Given the description of an element on the screen output the (x, y) to click on. 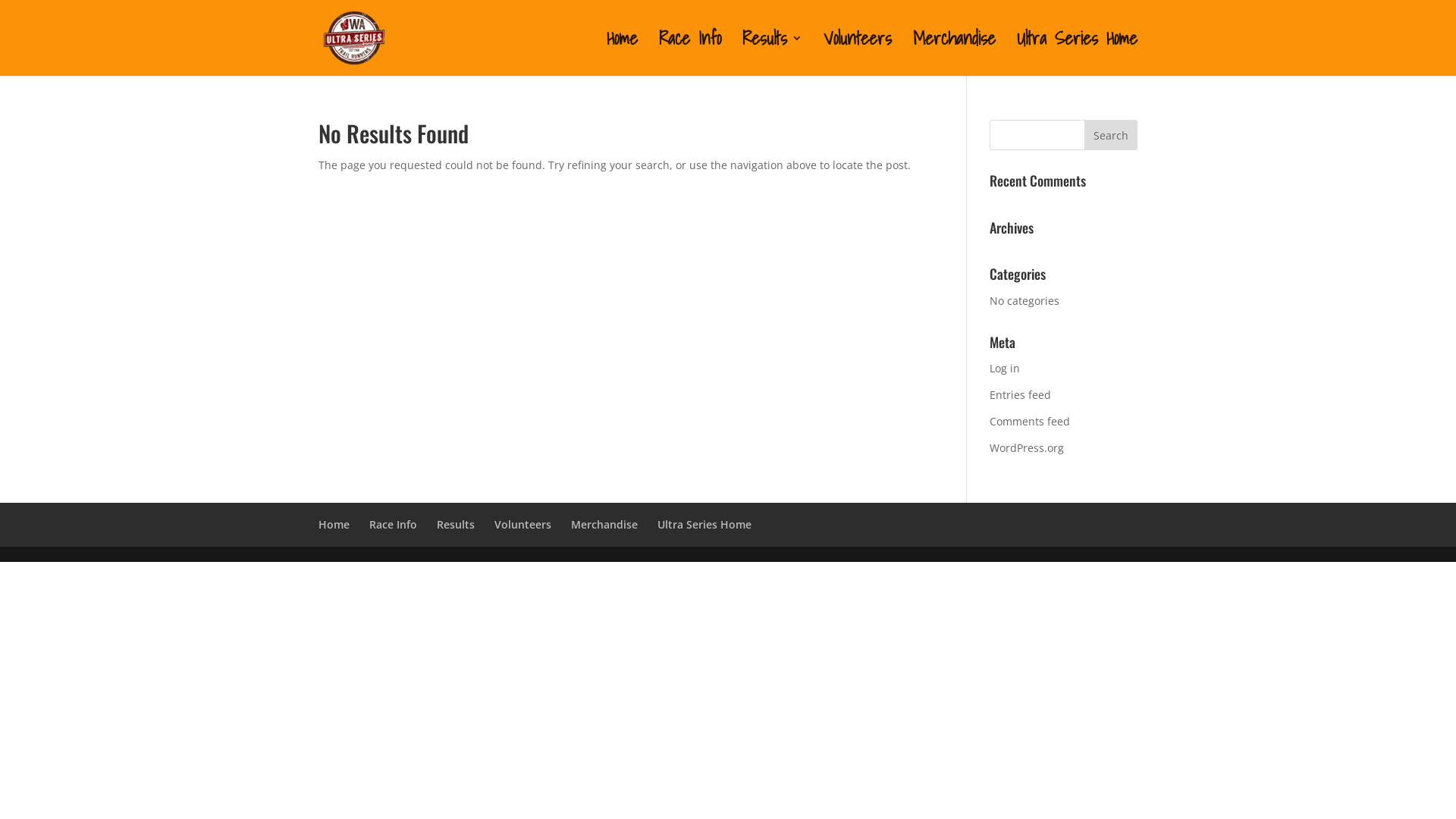
Merchandise Element type: text (954, 53)
Race Info Element type: text (393, 524)
Log in Element type: text (1004, 367)
Search Element type: text (1110, 134)
Entries feed Element type: text (1020, 394)
Ultra Series Home Element type: text (704, 524)
Comments feed Element type: text (1029, 421)
Ultra Series Home Element type: text (1076, 53)
Home Element type: text (621, 53)
Volunteers Element type: text (522, 524)
Race Info Element type: text (689, 53)
Results Element type: text (772, 53)
WordPress.org Element type: text (1026, 447)
Home Element type: text (333, 524)
Volunteers Element type: text (857, 53)
Merchandise Element type: text (604, 524)
Results Element type: text (455, 524)
